Given the description of an element on the screen output the (x, y) to click on. 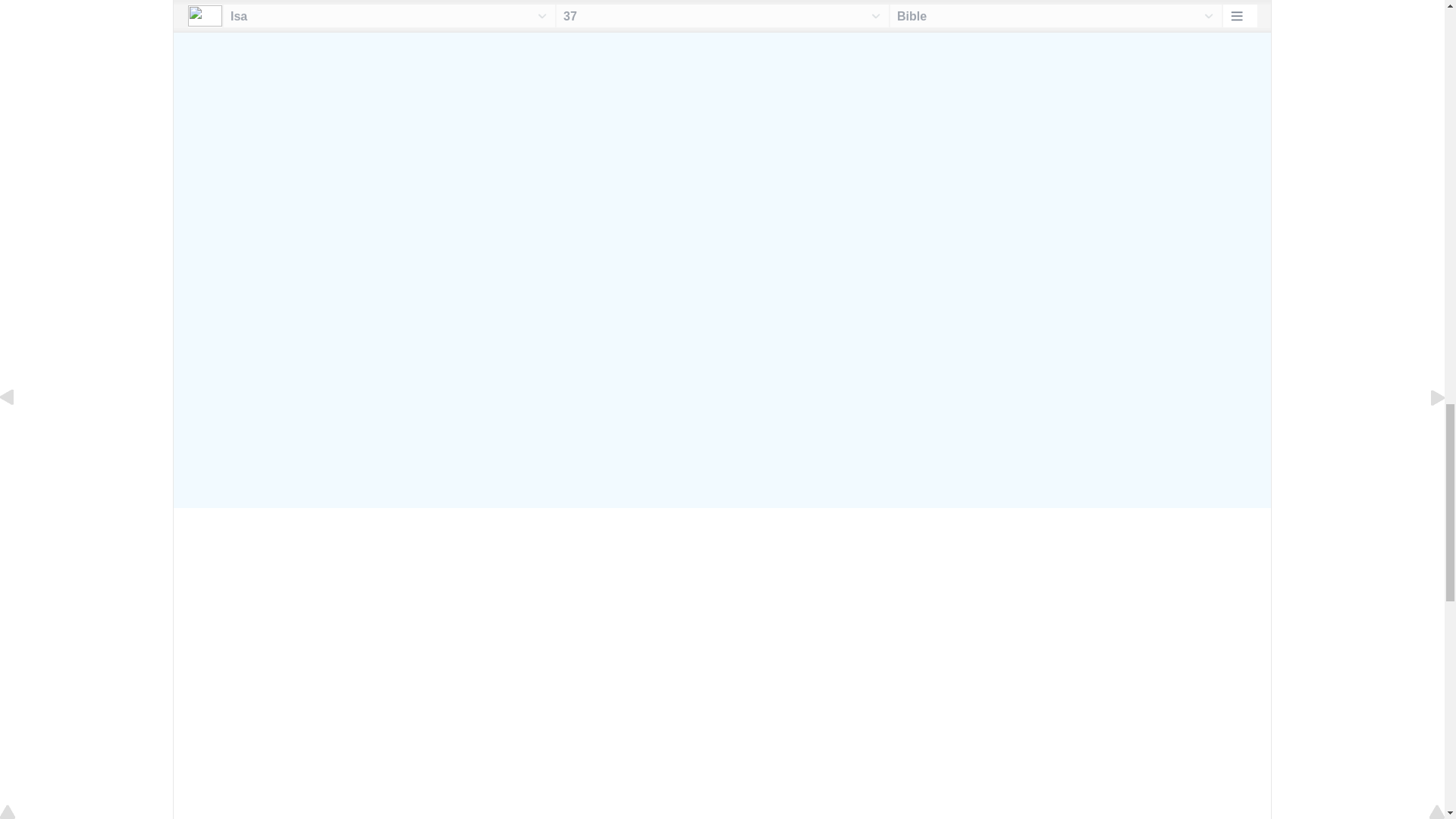
Advertisement (721, 115)
Advertisement (721, 366)
